Given the description of an element on the screen output the (x, y) to click on. 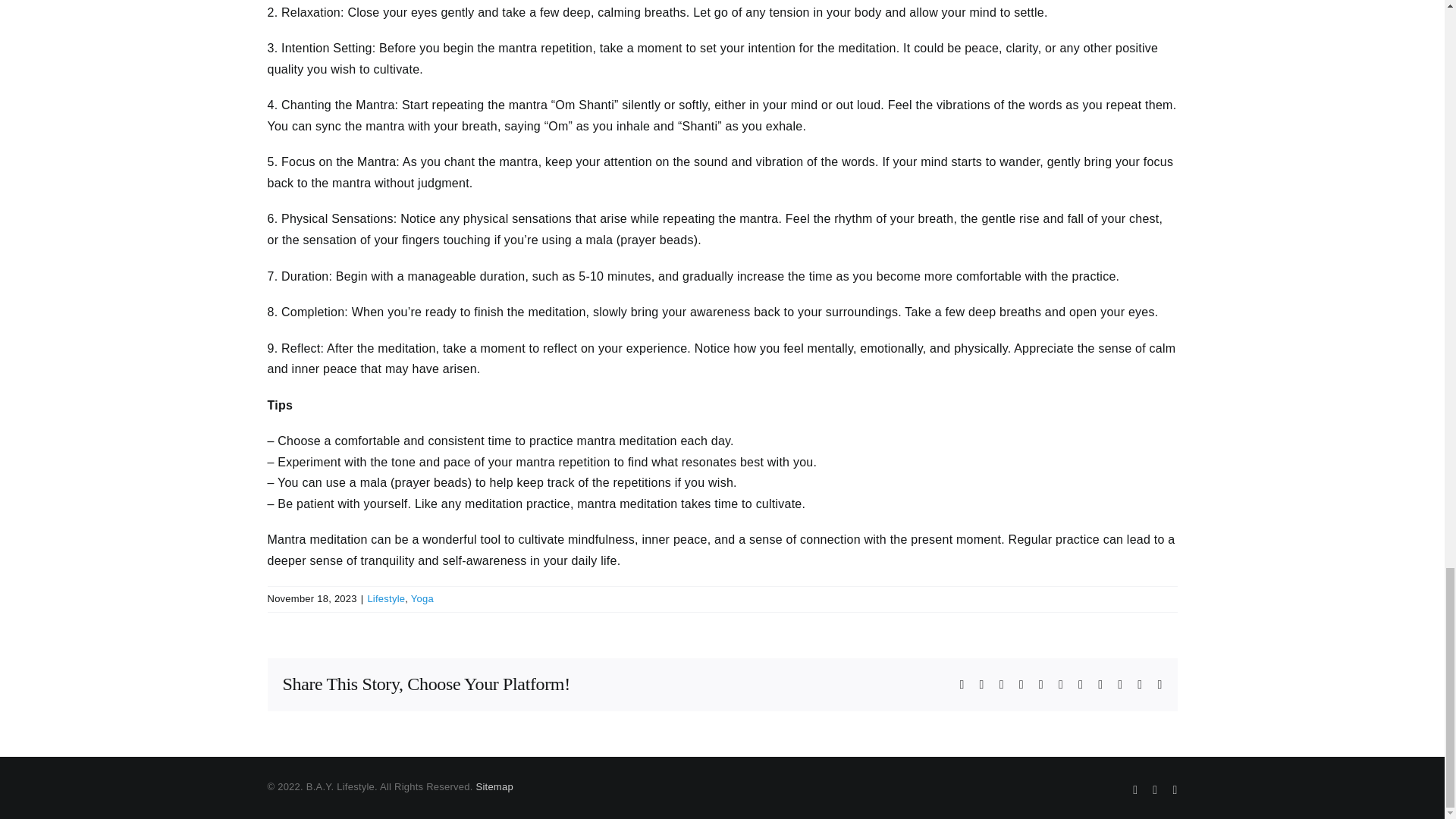
Yoga (421, 598)
Lifestyle (385, 598)
